Given the description of an element on the screen output the (x, y) to click on. 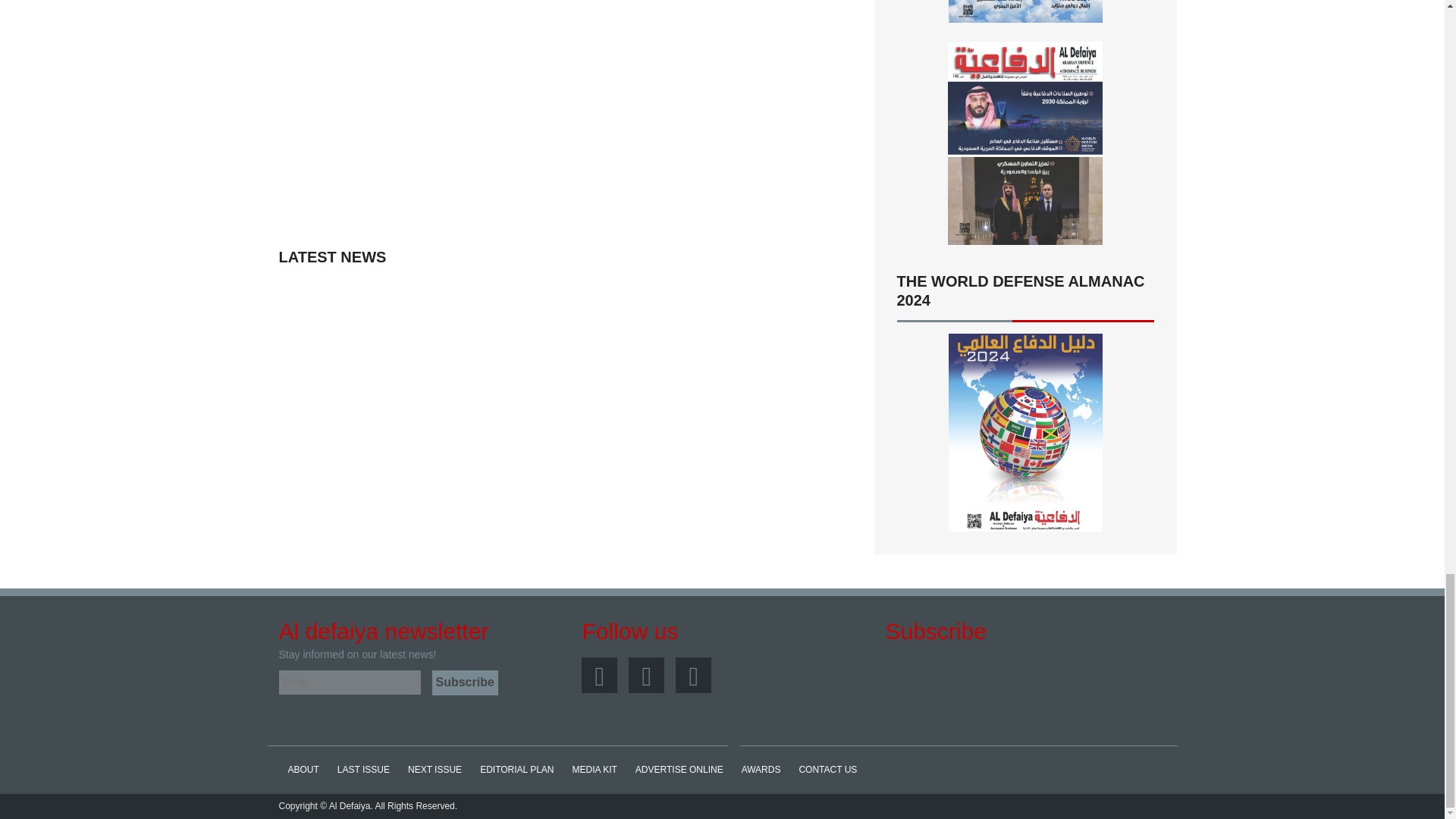
Subscribe (464, 682)
